Given the description of an element on the screen output the (x, y) to click on. 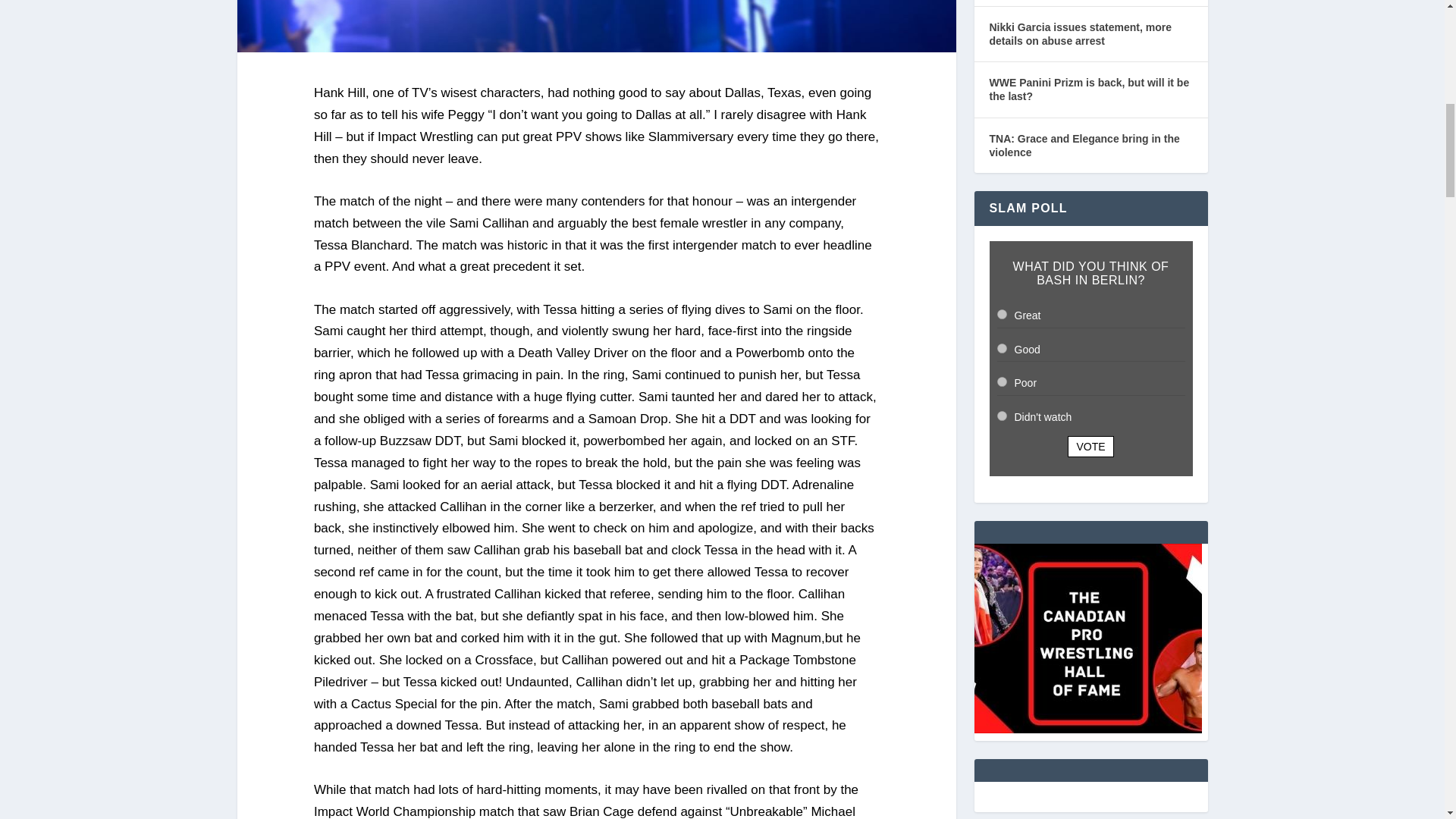
6512 (1000, 381)
6511 (1000, 347)
6513 (1000, 415)
6510 (1000, 314)
